Given the description of an element on the screen output the (x, y) to click on. 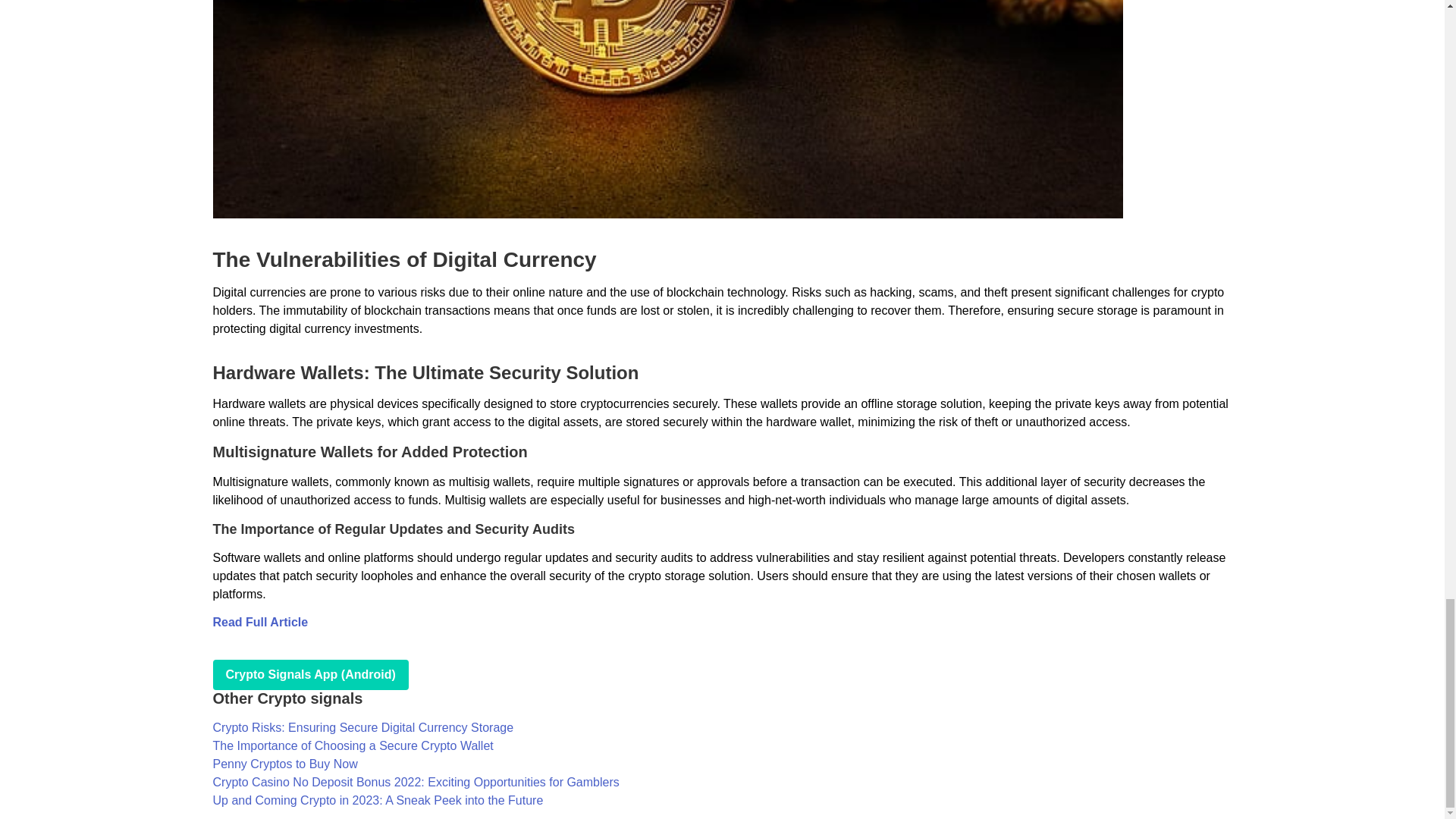
Up and Coming Crypto in 2023: A Sneak Peek into the Future (377, 799)
Up and Coming Crypto in 2023: A Sneak Peek into the Future (377, 799)
Crypto Risks: Ensuring Secure Digital Currency Storage (362, 727)
The Importance of Choosing a Secure Crypto Wallet (352, 745)
Crypto Risks: Ensuring Secure Digital Currency Storage (362, 727)
play (309, 675)
Penny Cryptos to Buy Now (284, 763)
The Importance of Choosing a Secure Crypto Wallet (352, 745)
